Given the description of an element on the screen output the (x, y) to click on. 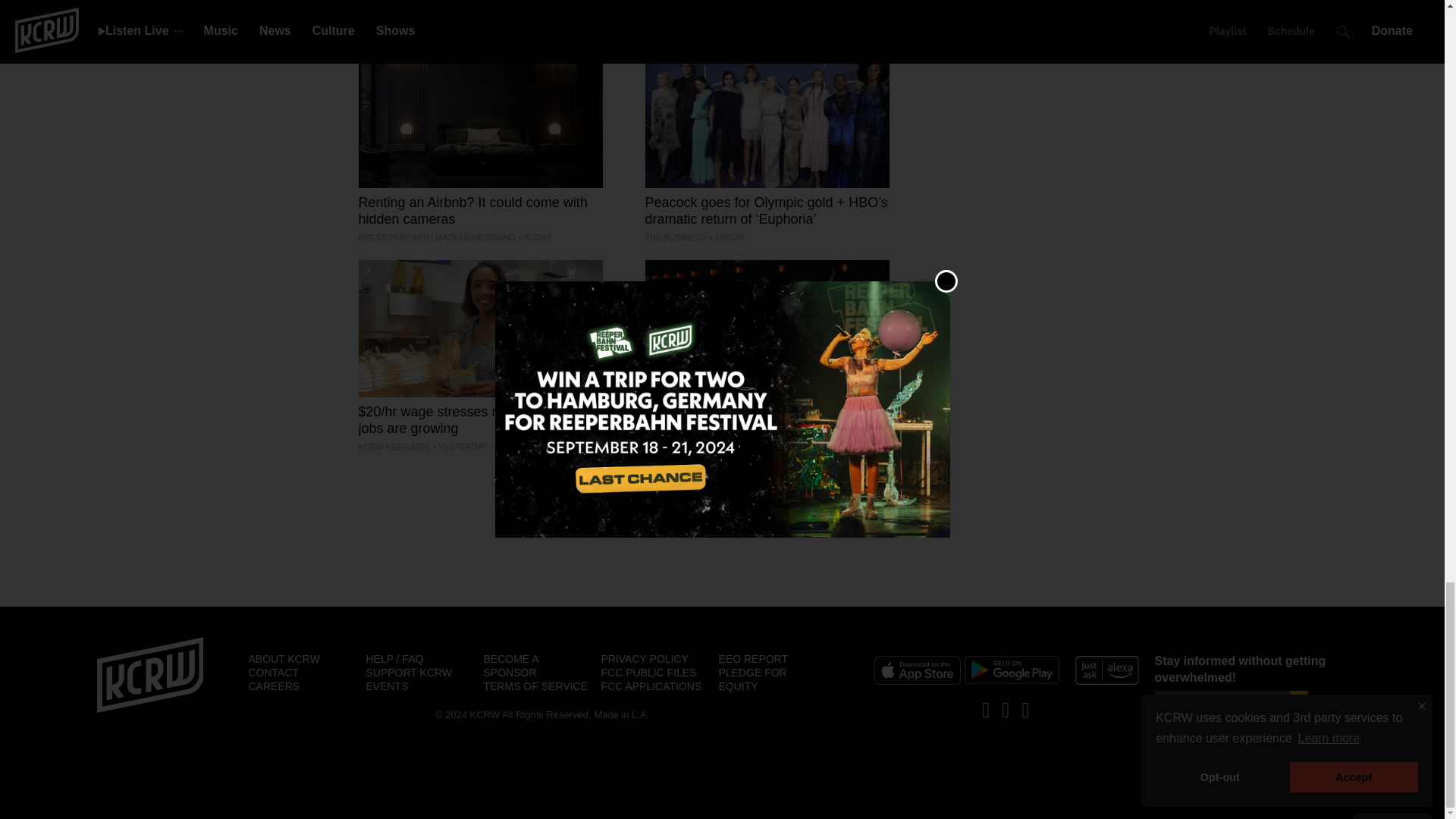
Monday, July 29th 2024, 3:00 pm (459, 446)
Friday, July 26th 2024, 3:00 pm (727, 236)
Tuesday, July 30th 2024, 3:00 am (534, 236)
